Given the description of an element on the screen output the (x, y) to click on. 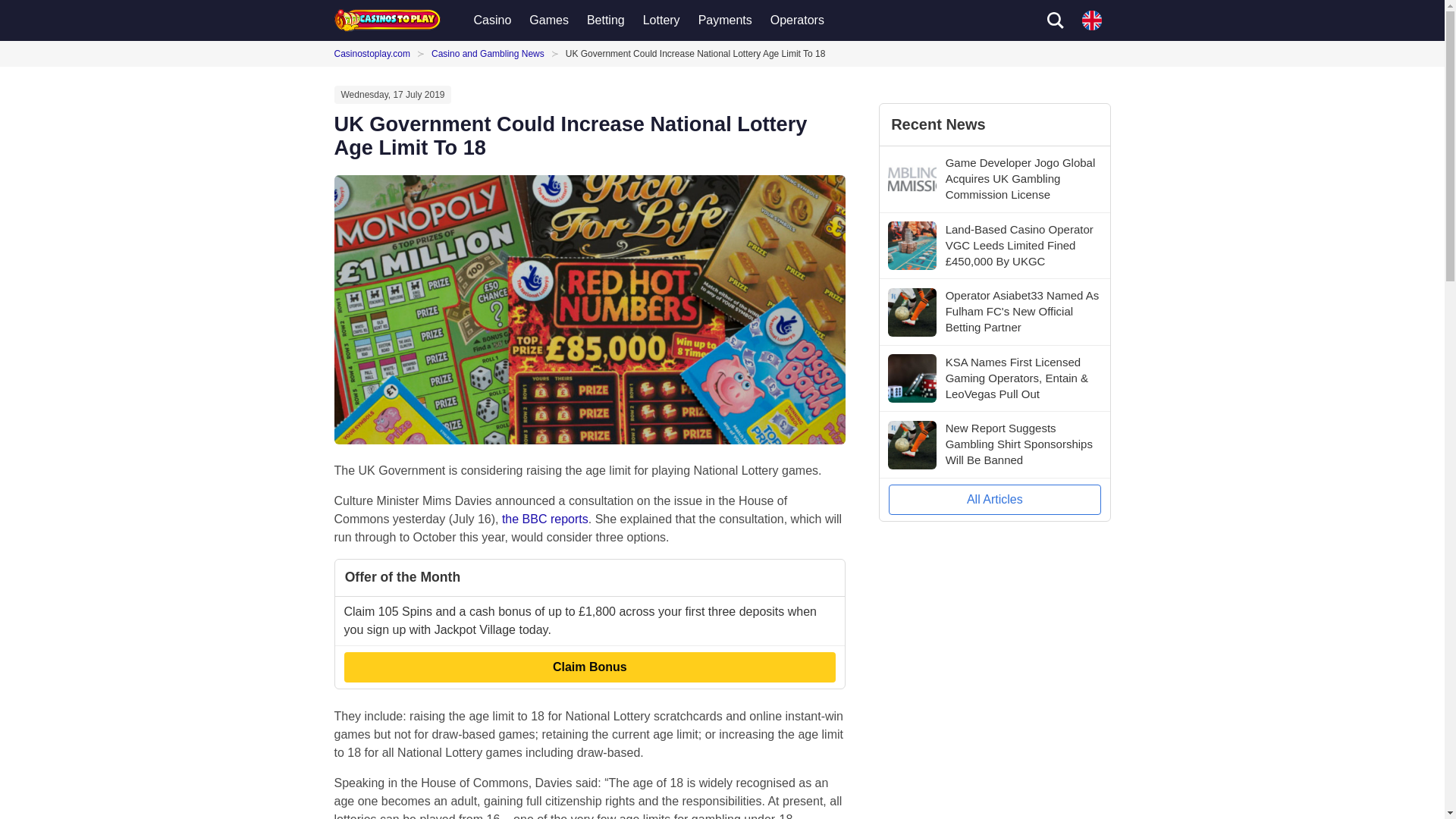
Casino and Gambling News (488, 53)
Casinostoplay.com (374, 53)
the BBC reports (545, 518)
Casinostoplay.com Logo (386, 20)
Claim Bonus (589, 666)
